Given the description of an element on the screen output the (x, y) to click on. 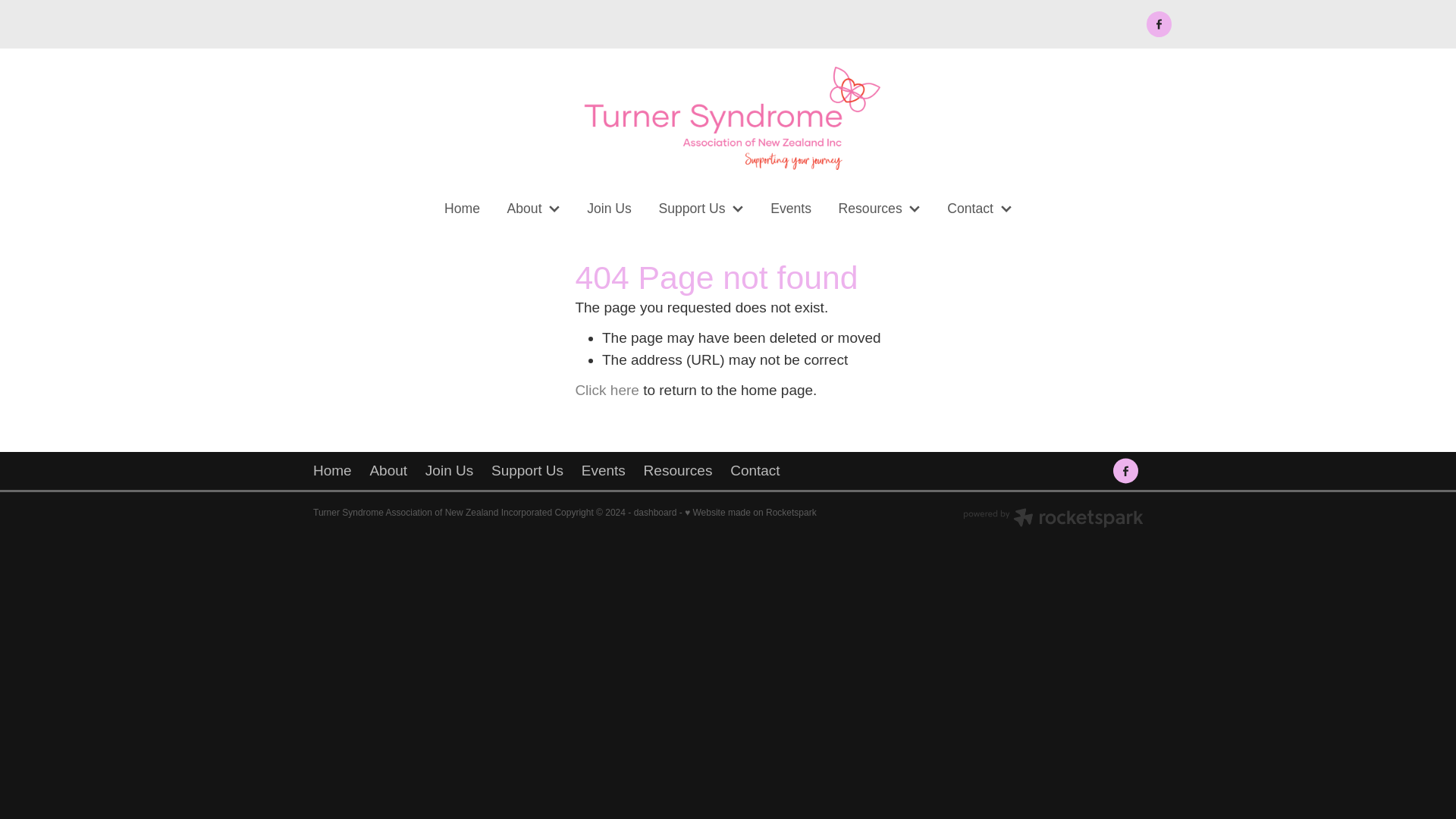
Join Us (448, 470)
Resources (879, 209)
Home (337, 470)
Events (603, 470)
Contact (979, 209)
A link to this website's Facebook. (1125, 470)
Support Us (526, 470)
Click here (607, 390)
Resources (678, 470)
About (388, 470)
dashboard (655, 511)
A link to this website's Facebook. (1159, 23)
Events (790, 209)
Support Us (701, 209)
About (533, 209)
